Given the description of an element on the screen output the (x, y) to click on. 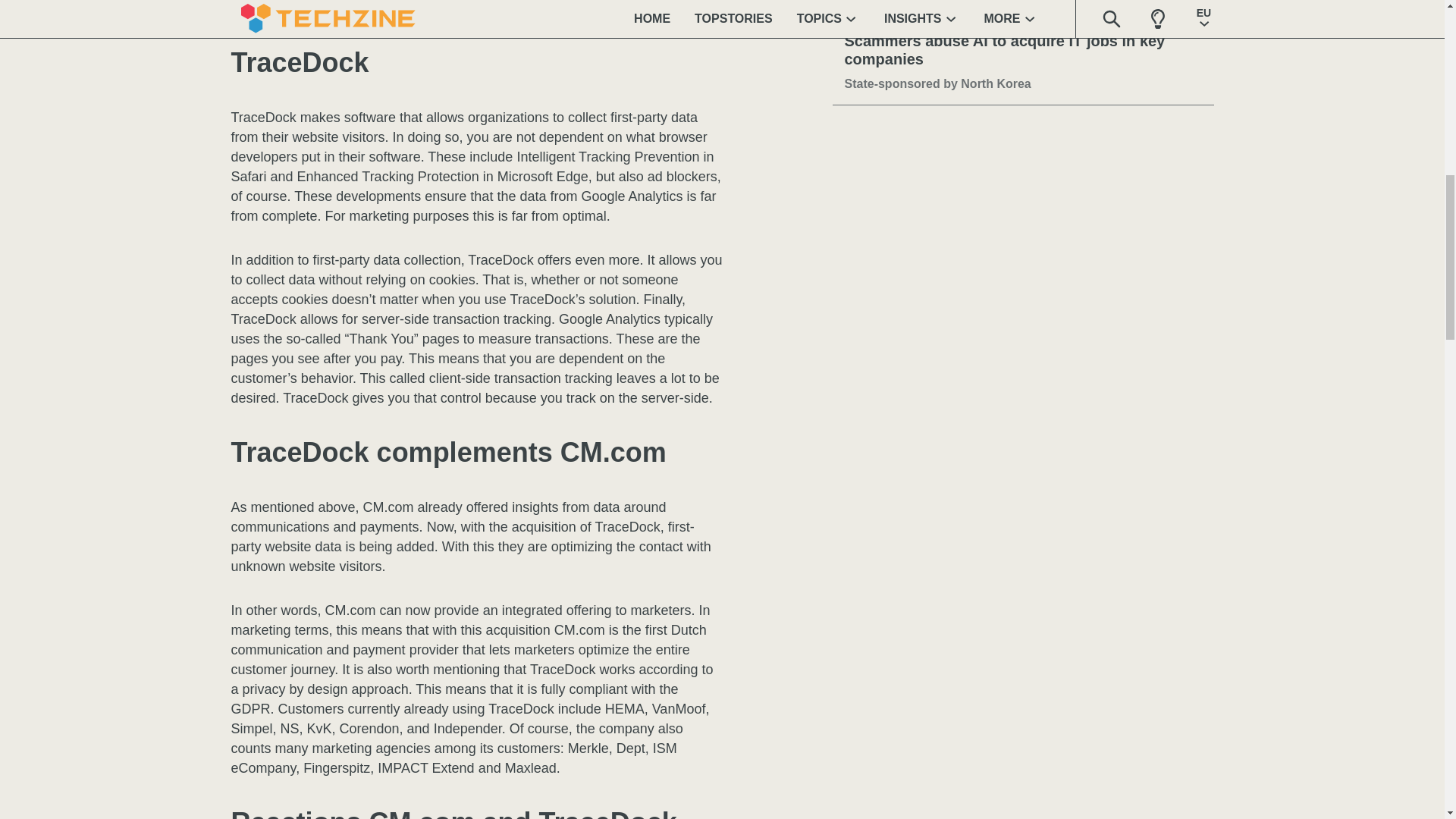
Scammers abuse AI to acquire IT jobs in key companies (1023, 50)
